Given the description of an element on the screen output the (x, y) to click on. 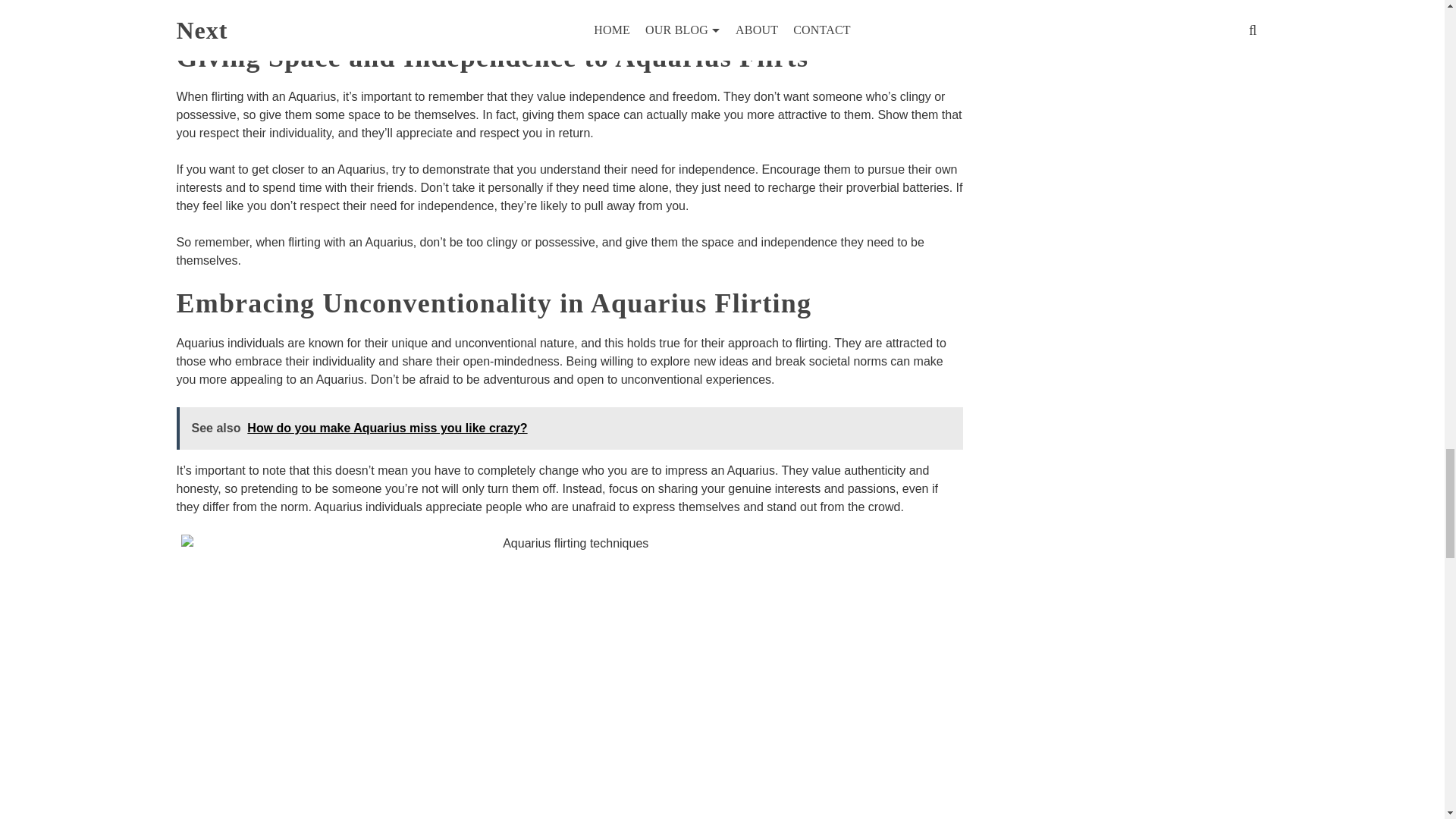
See also  How do you make Aquarius miss you like crazy? (569, 428)
